Given the description of an element on the screen output the (x, y) to click on. 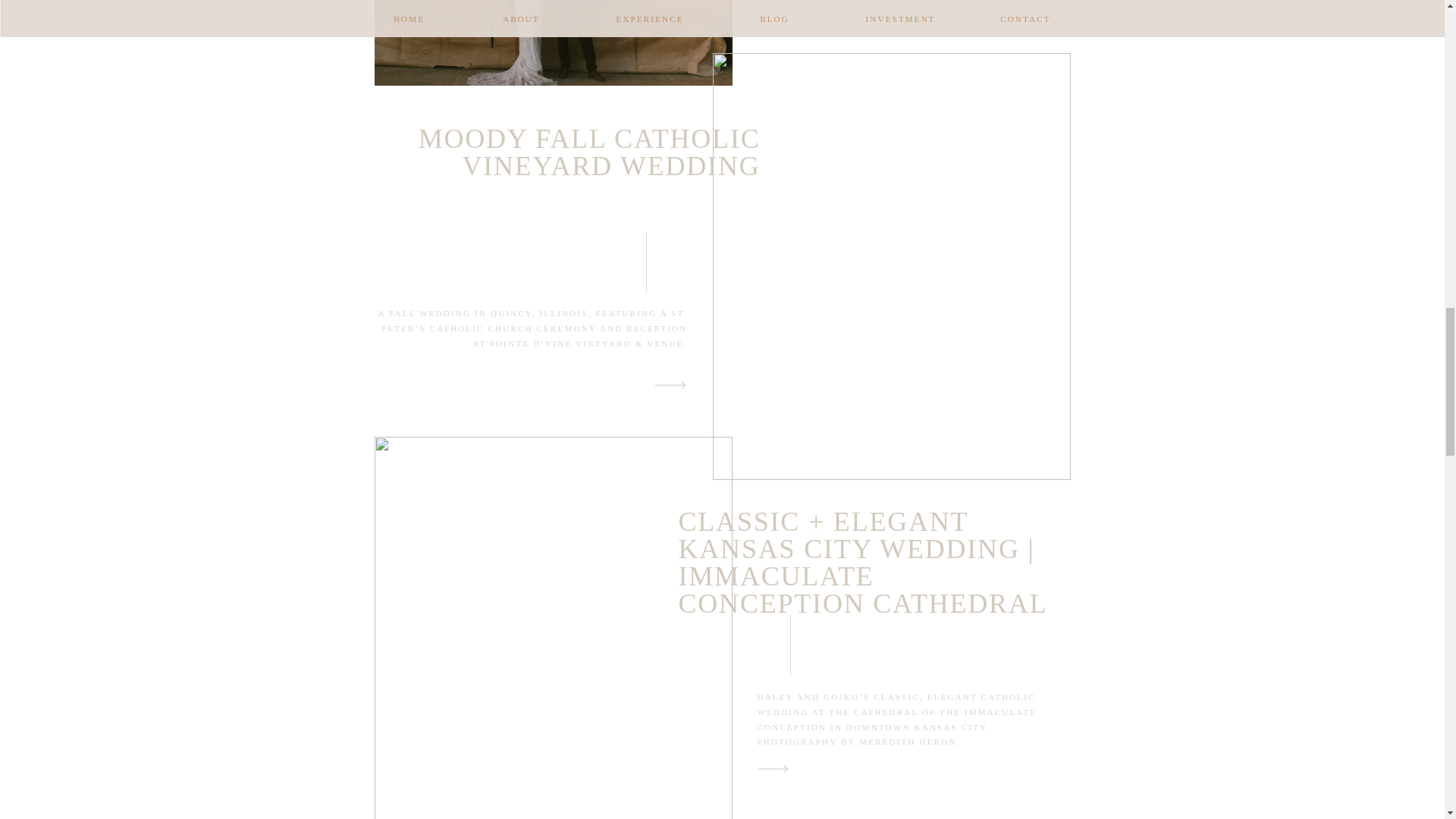
MOODY FALL CATHOLIC VINEYARD WEDDING (589, 151)
wedding (765, 313)
wedding (735, 696)
Moody Fall Catholic Vineyard Wedding (670, 384)
